Given the description of an element on the screen output the (x, y) to click on. 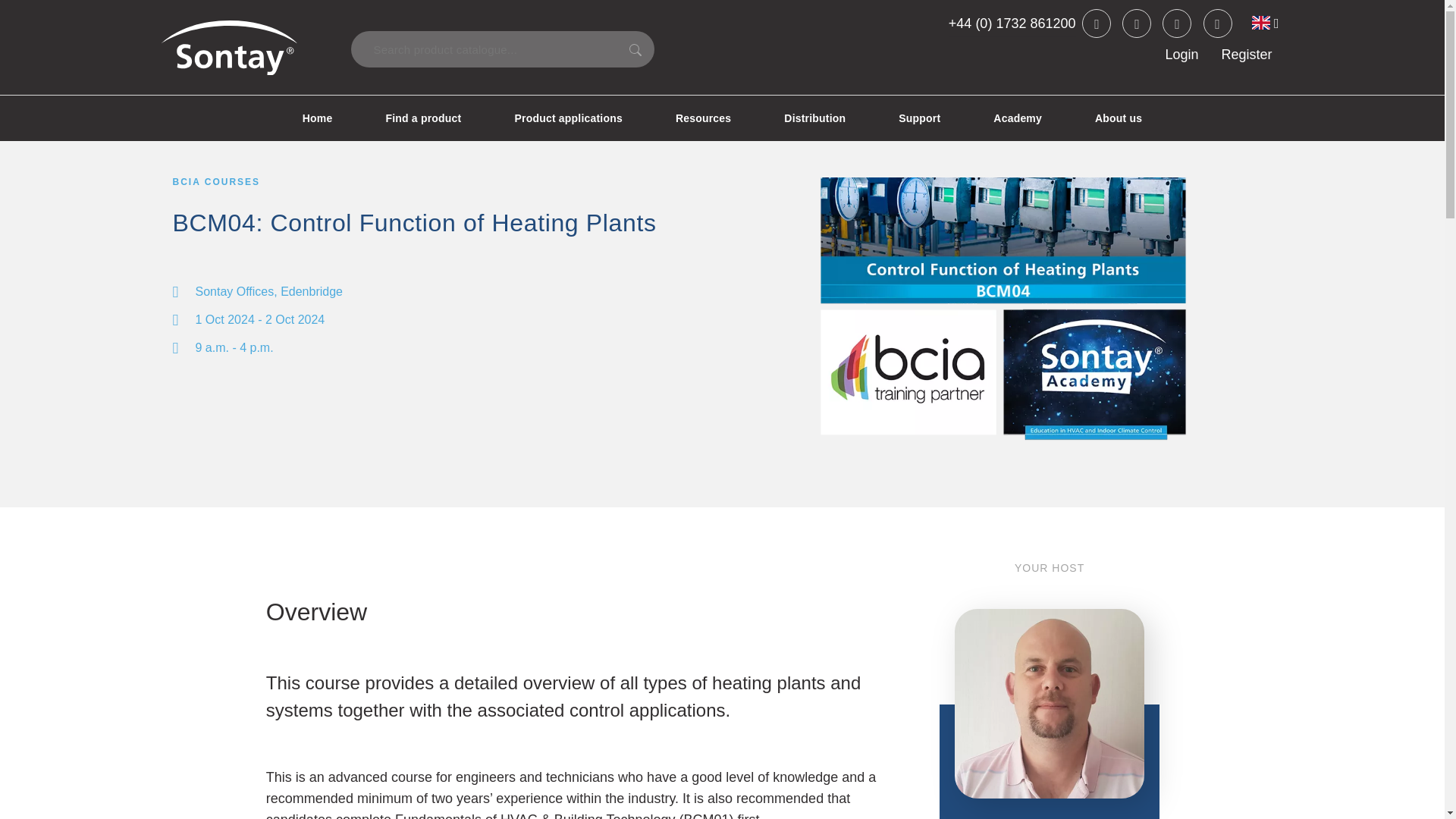
Find a product (422, 117)
Resources (703, 117)
Home (317, 117)
Twitter (1095, 23)
Product applications (567, 117)
Facebook (1136, 23)
vimeo (1216, 23)
LinkedIn (1176, 23)
Sontay (228, 47)
British English (1265, 22)
